Given the description of an element on the screen output the (x, y) to click on. 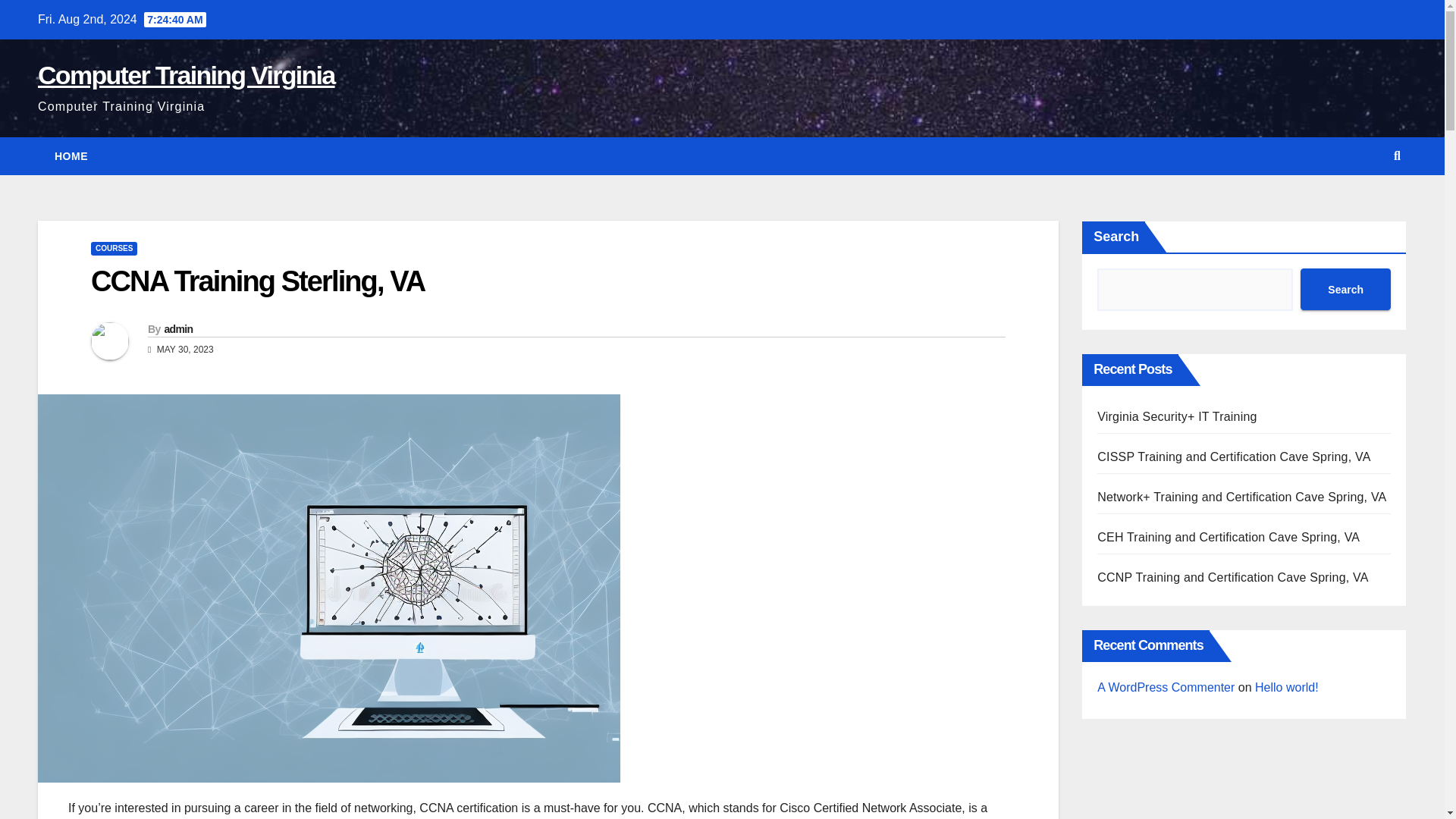
Computer Training Virginia (185, 74)
CEH Training and Certification Cave Spring, VA (1228, 536)
CISSP Training and Certification Cave Spring, VA (1233, 456)
Search (1345, 289)
Home (70, 156)
HOME (70, 156)
admin (177, 328)
CCNA Training Sterling, VA (257, 281)
COURSES (113, 248)
Permalink to: CCNA Training Sterling, VA (257, 281)
CCNP Training and Certification Cave Spring, VA (1232, 576)
